Given the description of an element on the screen output the (x, y) to click on. 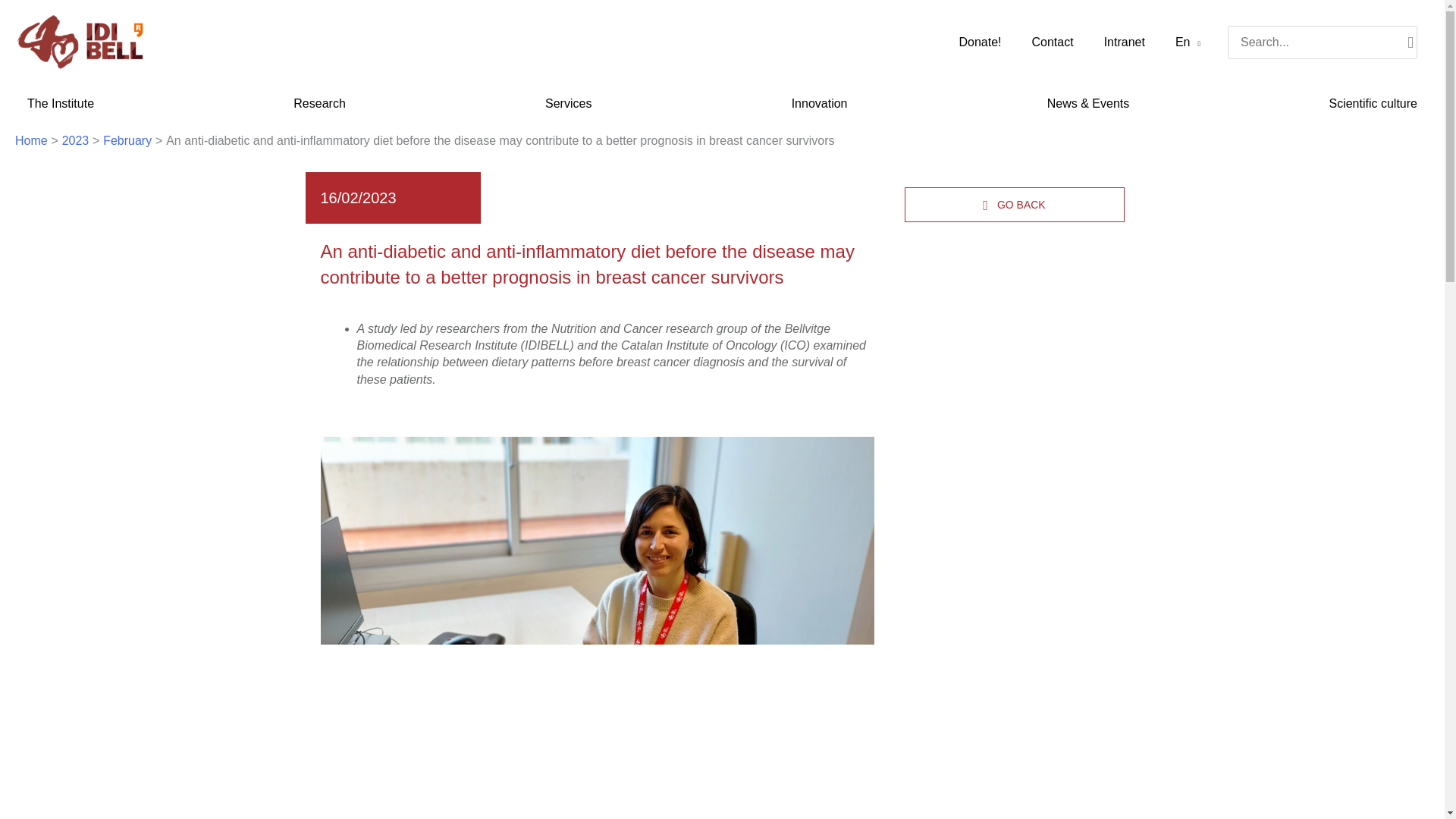
Home (31, 140)
Research (318, 103)
Donate! (979, 42)
The Institute (60, 103)
En (1187, 42)
February (127, 140)
Intranet (1124, 42)
GO BACK (1014, 204)
Innovation (819, 103)
2023 (75, 140)
